Given the description of an element on the screen output the (x, y) to click on. 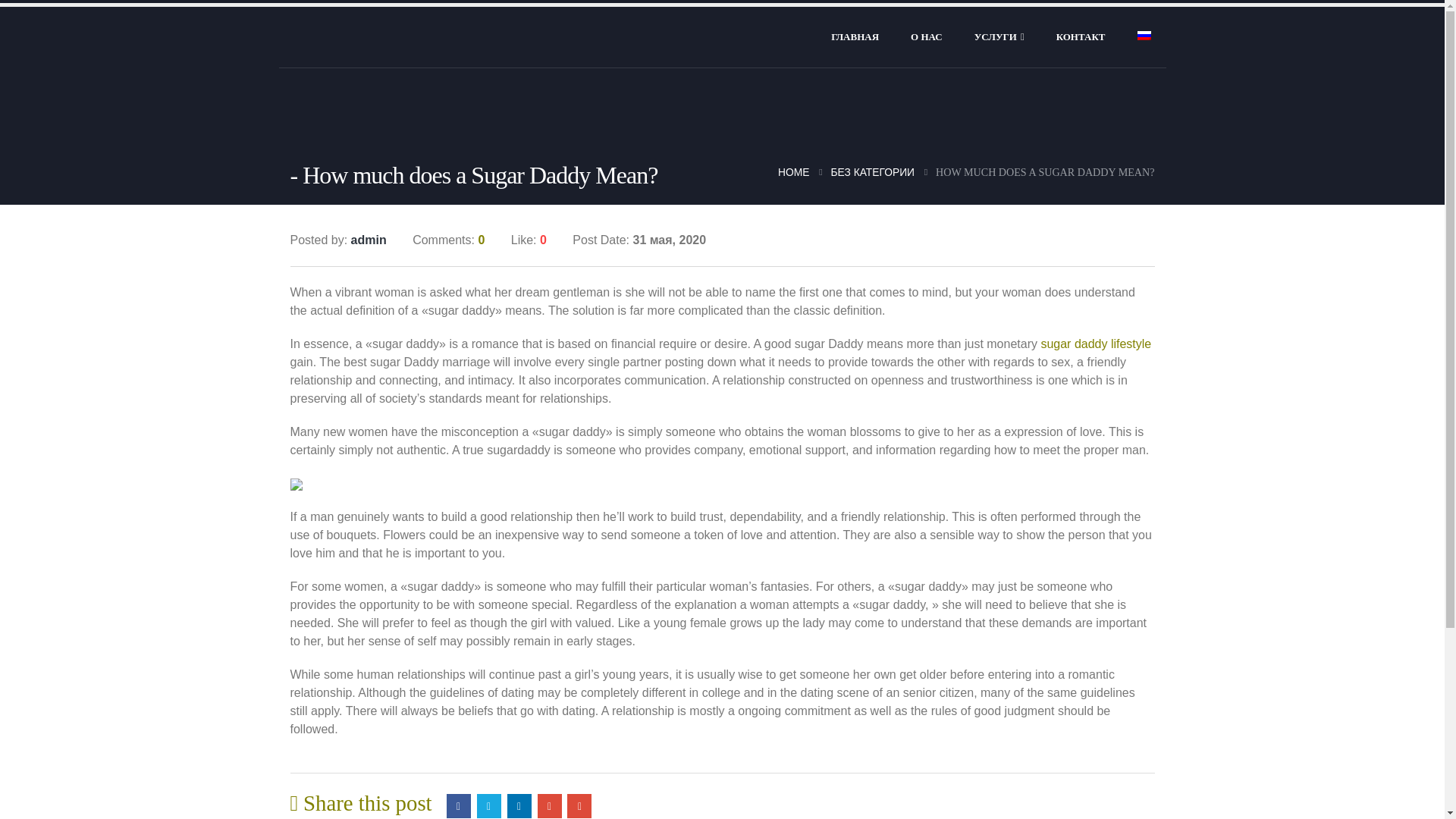
Email (579, 805)
HOME (793, 171)
LinkedIn (518, 805)
Twitter (488, 805)
Facebook (458, 805)
sugar daddy lifestyle (1096, 343)
Go to Home Page (793, 171)
